Given the description of an element on the screen output the (x, y) to click on. 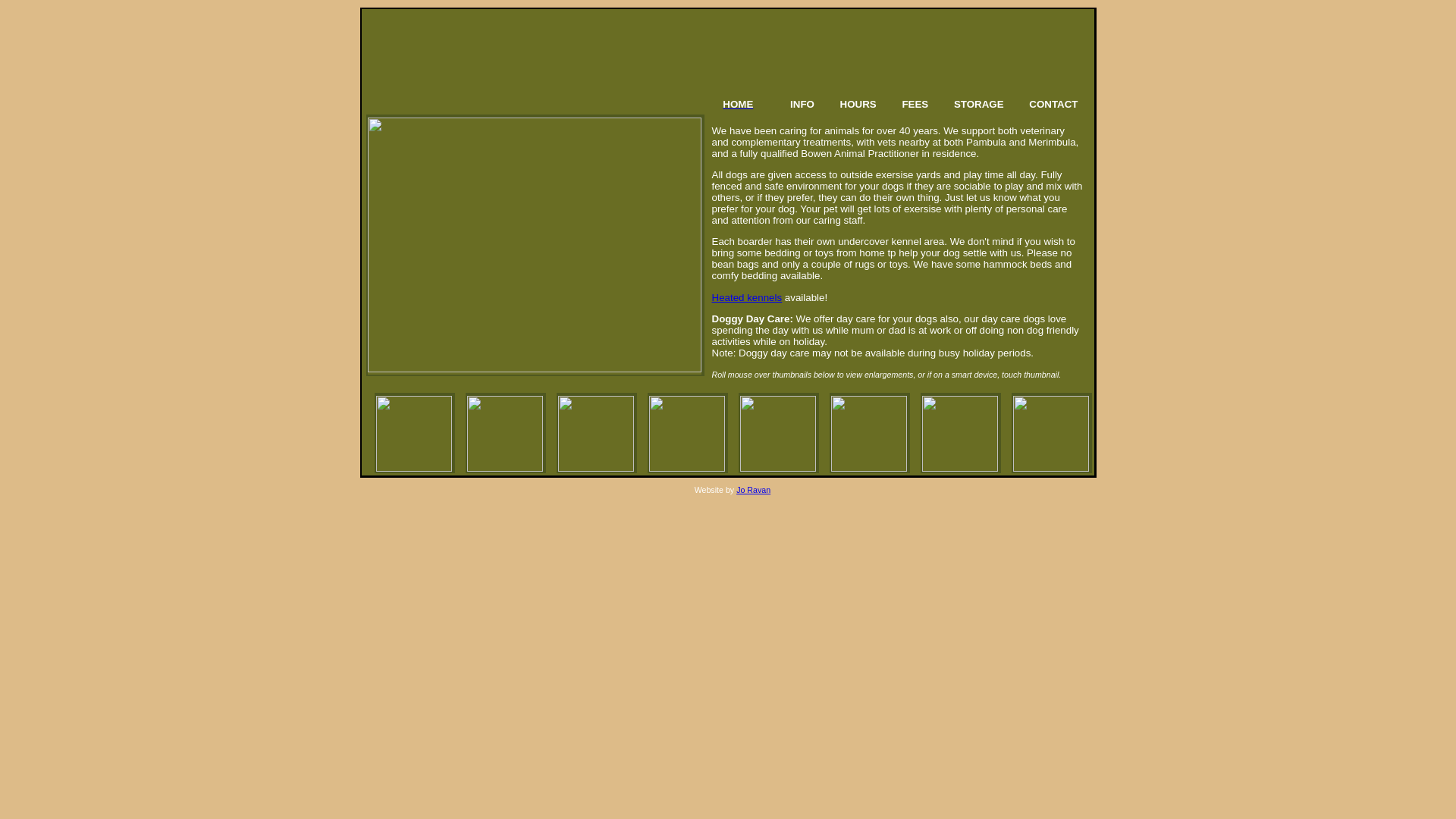
Heated kennels Element type: text (746, 297)
HOURS Element type: text (858, 103)
FEES Element type: text (914, 103)
INFO Element type: text (801, 103)
Jo Ravan Element type: text (753, 489)
CONTACT Element type: text (1052, 103)
STORAGE Element type: text (978, 103)
HOME Element type: text (748, 103)
